Given the description of an element on the screen output the (x, y) to click on. 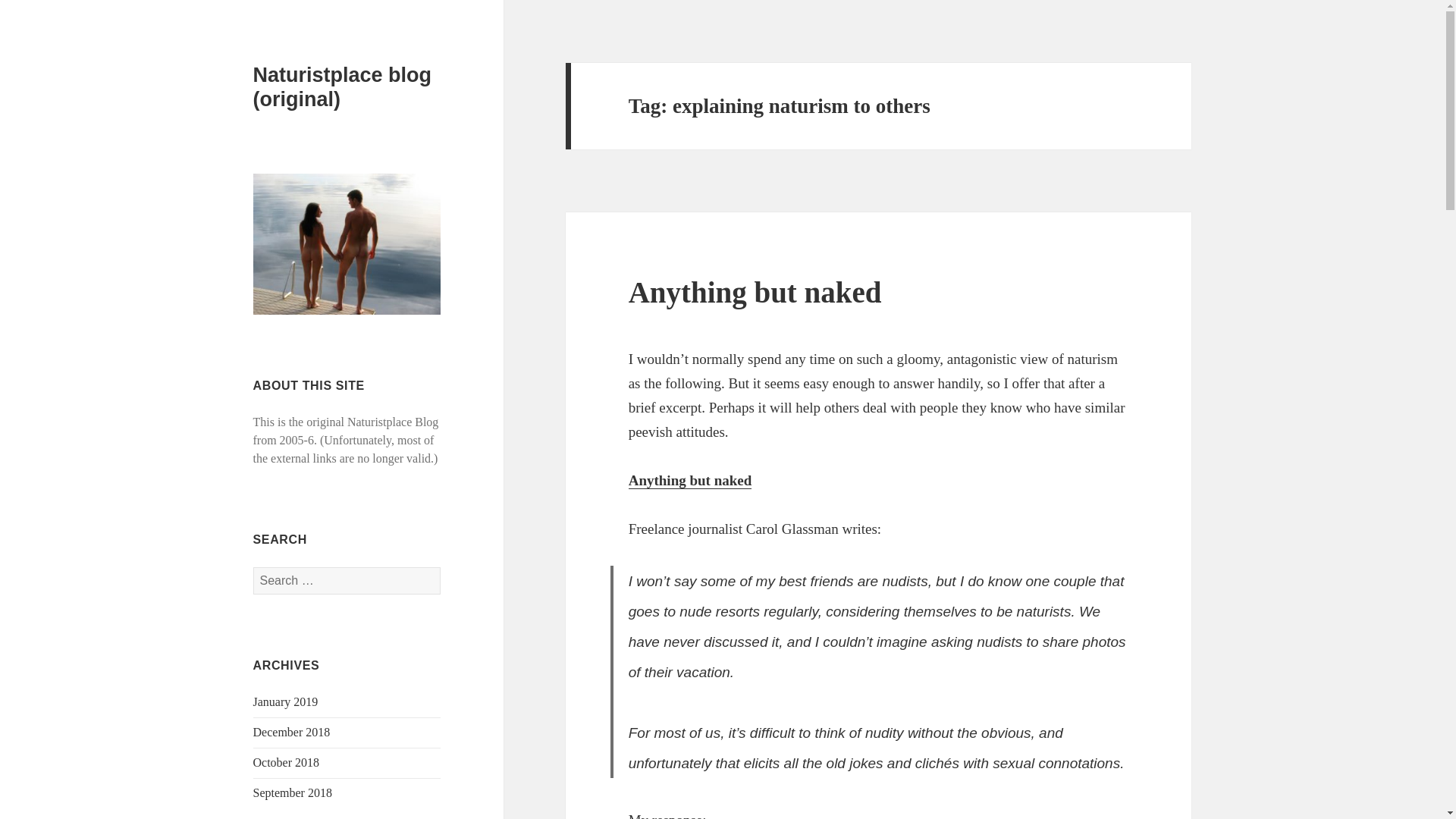
October 2018 (286, 762)
January 2019 (285, 701)
September 2018 (292, 792)
December 2018 (291, 731)
